Given the description of an element on the screen output the (x, y) to click on. 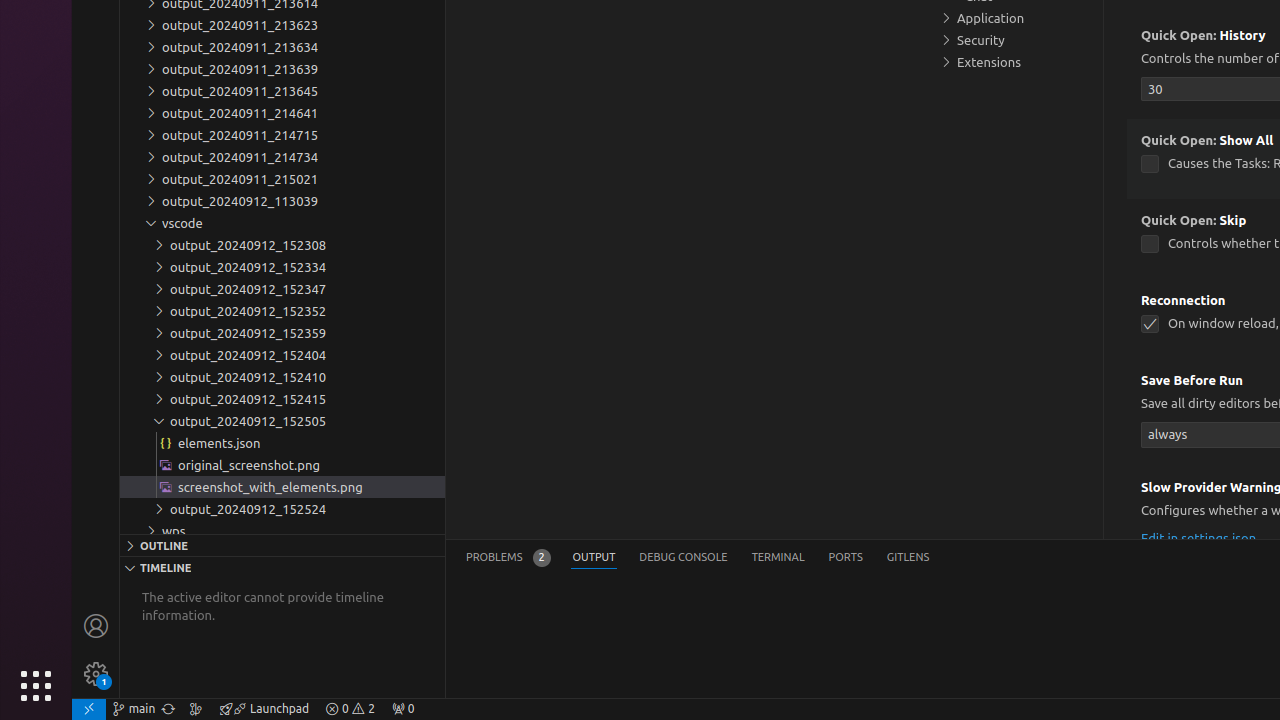
output_20240911_214715 Element type: tree-item (282, 135)
Terminal (Ctrl+`) Element type: page-tab (778, 557)
GitLens Element type: page-tab (908, 557)
output_20240912_152359 Element type: tree-item (282, 333)
Edit in settings.json: task.slowProviderWarning Element type: push-button (1199, 537)
